Given the description of an element on the screen output the (x, y) to click on. 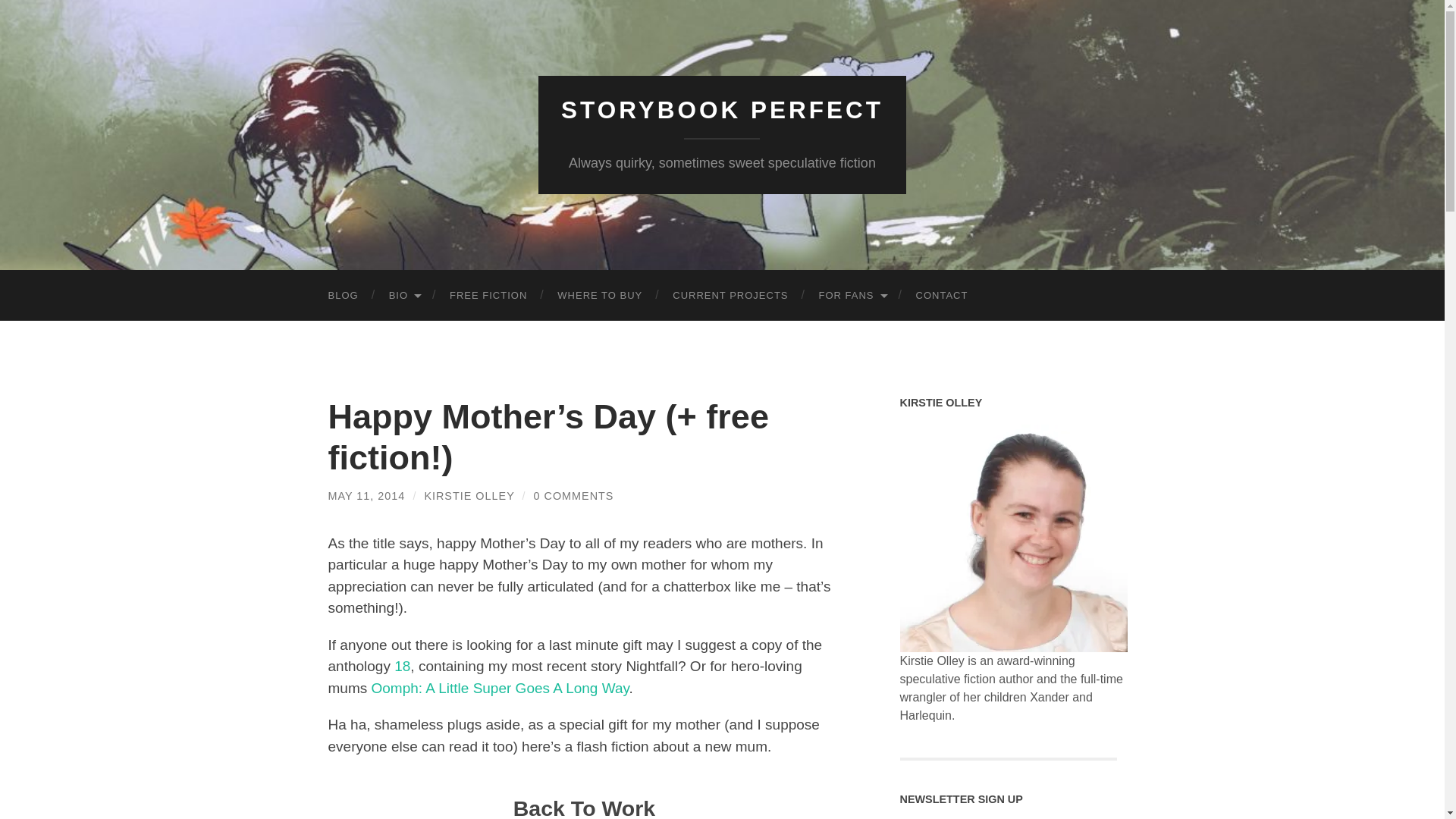
CONTACT (942, 295)
BLOG (342, 295)
Buy '18' from Amazon now! (402, 666)
BIO (403, 295)
FOR FANS (852, 295)
FREE FICTION (487, 295)
Posts by Kirstie Olley (468, 495)
You can buy Oomph from here (499, 688)
STORYBOOK PERFECT (721, 109)
CURRENT PROJECTS (730, 295)
WHERE TO BUY (599, 295)
